Given the description of an element on the screen output the (x, y) to click on. 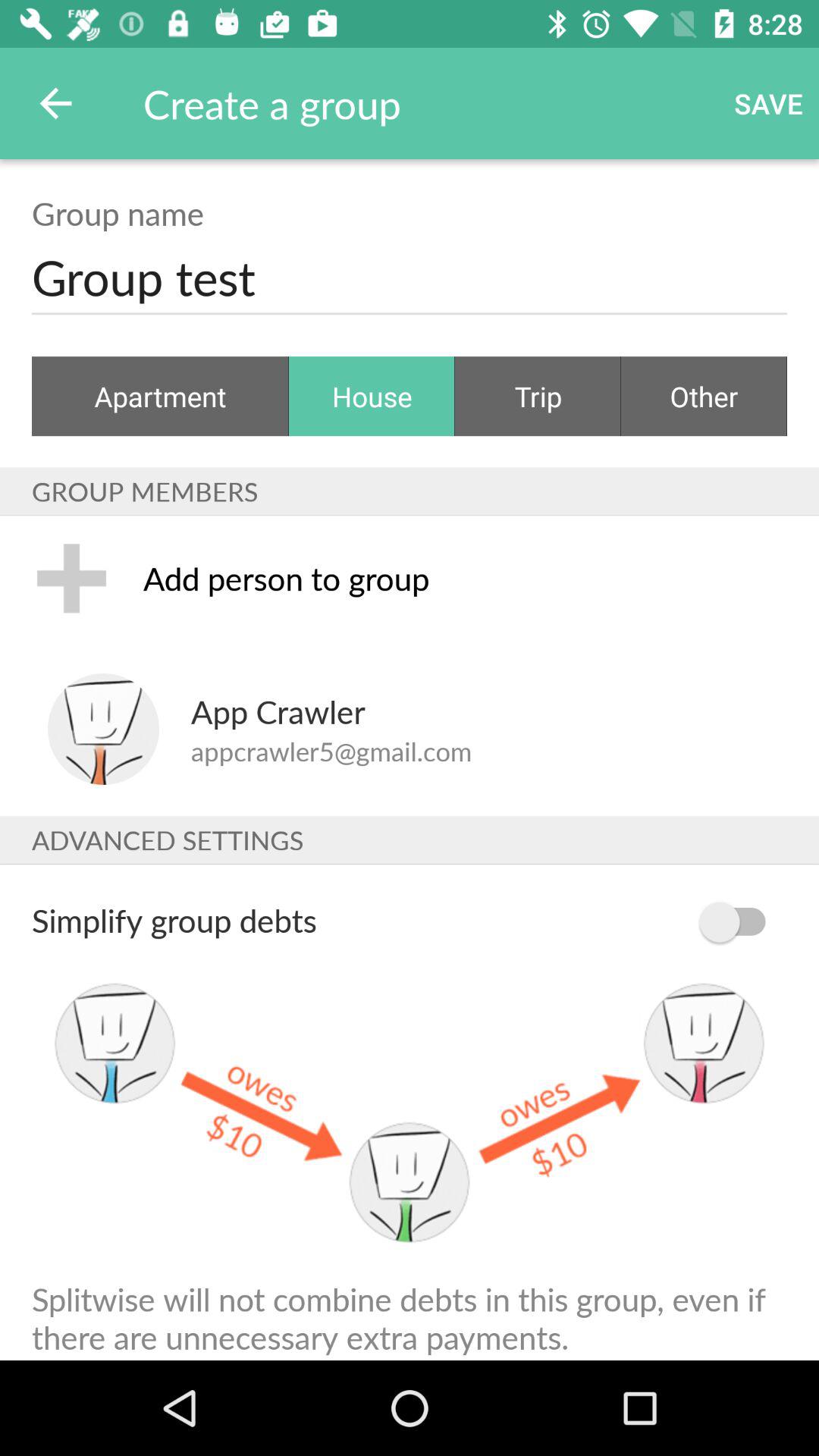
click icon to the left of app crawler (103, 728)
